Given the description of an element on the screen output the (x, y) to click on. 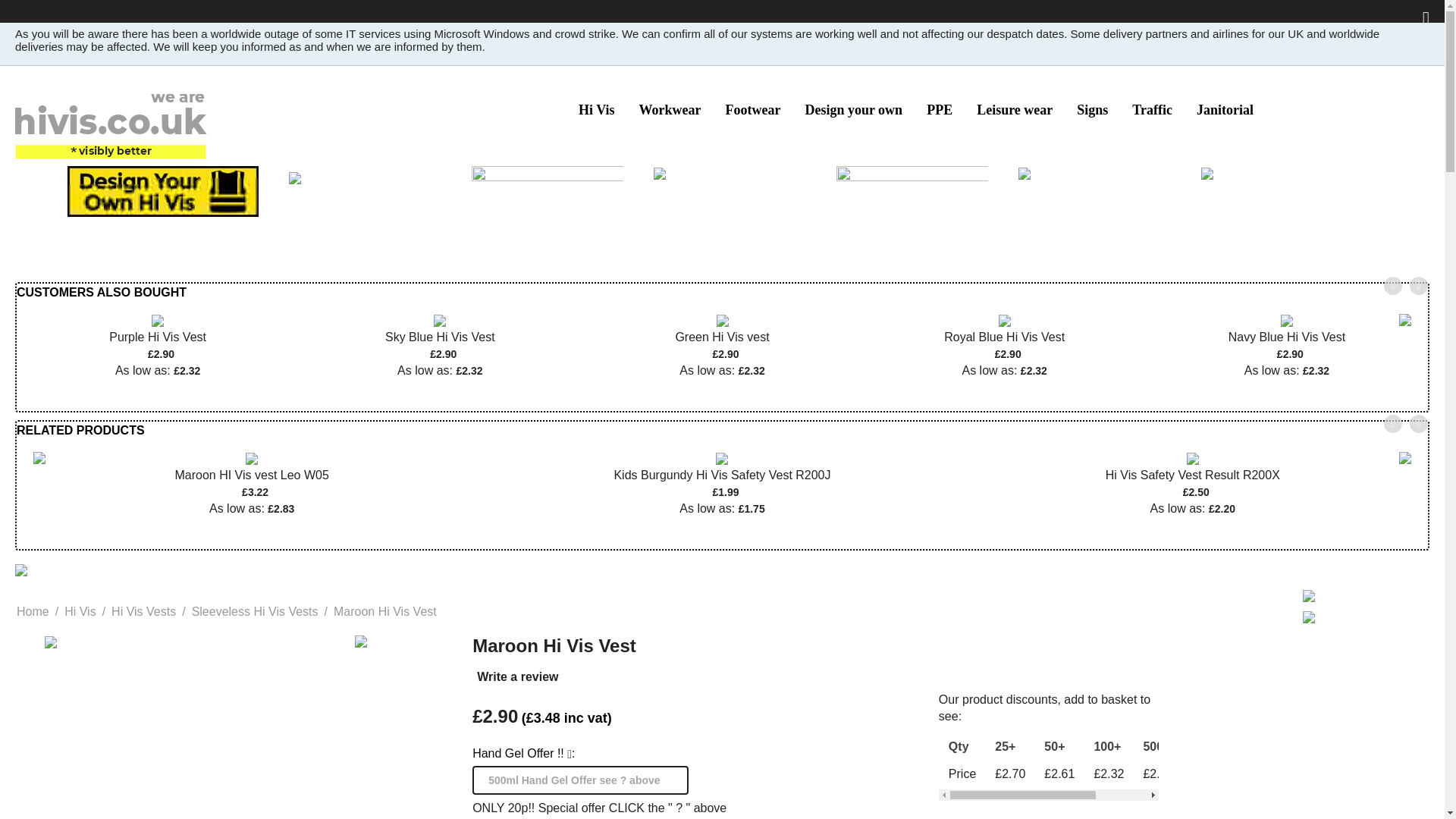
Purple Hi Vis Vest (157, 320)
Navy Blue Hi vis safety Vest (1286, 320)
Sky Blue Hi Vis Vest (440, 334)
Sky Blue Hi Vis Vest (439, 320)
Hi Vis (596, 109)
Custom Embroidered Sweatshirts (294, 176)
Green Hi Vis vest (721, 334)
Custom Embroidered Poloshirts (911, 189)
Custom Embroidered Shirts (1023, 172)
Custom Embroidered T-Shirts (547, 189)
Royal Blue Hi Vis Vest (1004, 334)
Hivis clearance deals (1206, 172)
Custom Embroidered Sweatshirts (294, 177)
Purple Hi Vis Vest (157, 334)
